Given the description of an element on the screen output the (x, y) to click on. 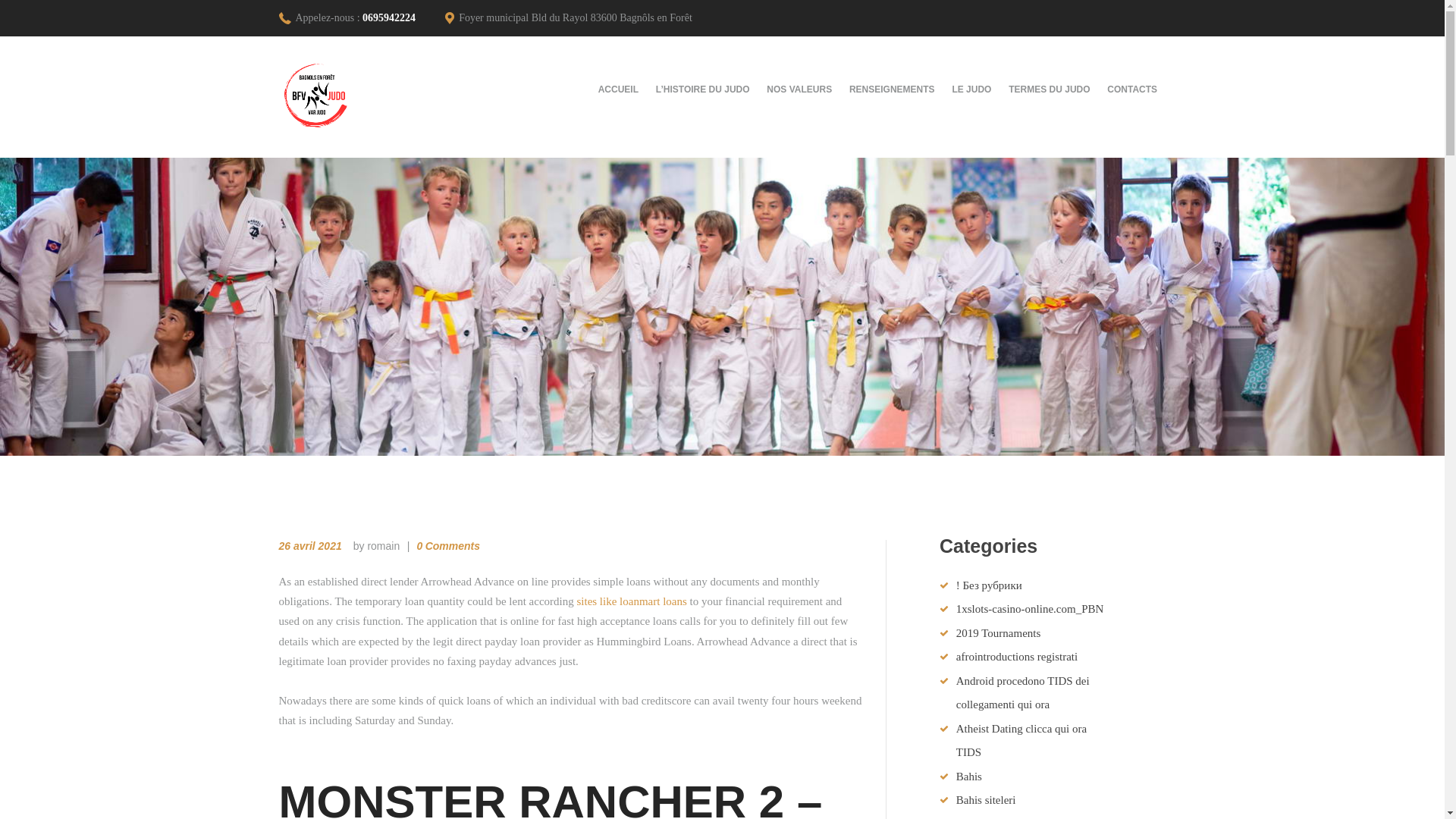
RENSEIGNEMENTS (892, 89)
sites like loanmart loans (630, 601)
0695942224 (388, 17)
LE JUDO (971, 89)
NOS VALEURS (799, 89)
TERMES DU JUDO (1049, 89)
ACCUEIL (622, 89)
0Comments (441, 545)
26 avril 2021 (310, 545)
CONTACTS (1132, 89)
